Given the description of an element on the screen output the (x, y) to click on. 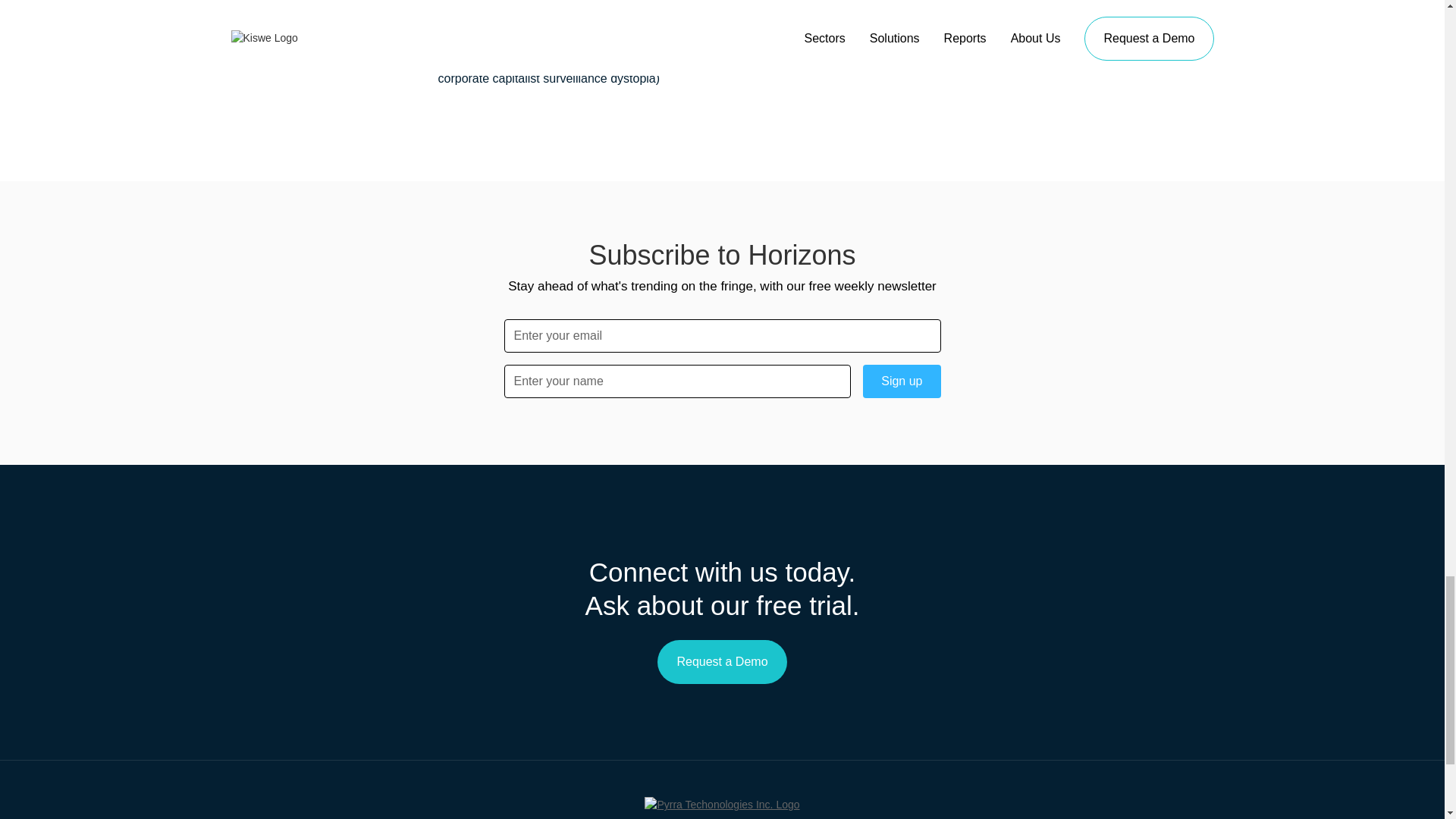
Sign up (901, 381)
Sign up (901, 381)
Request a Demo (722, 661)
